Given the description of an element on the screen output the (x, y) to click on. 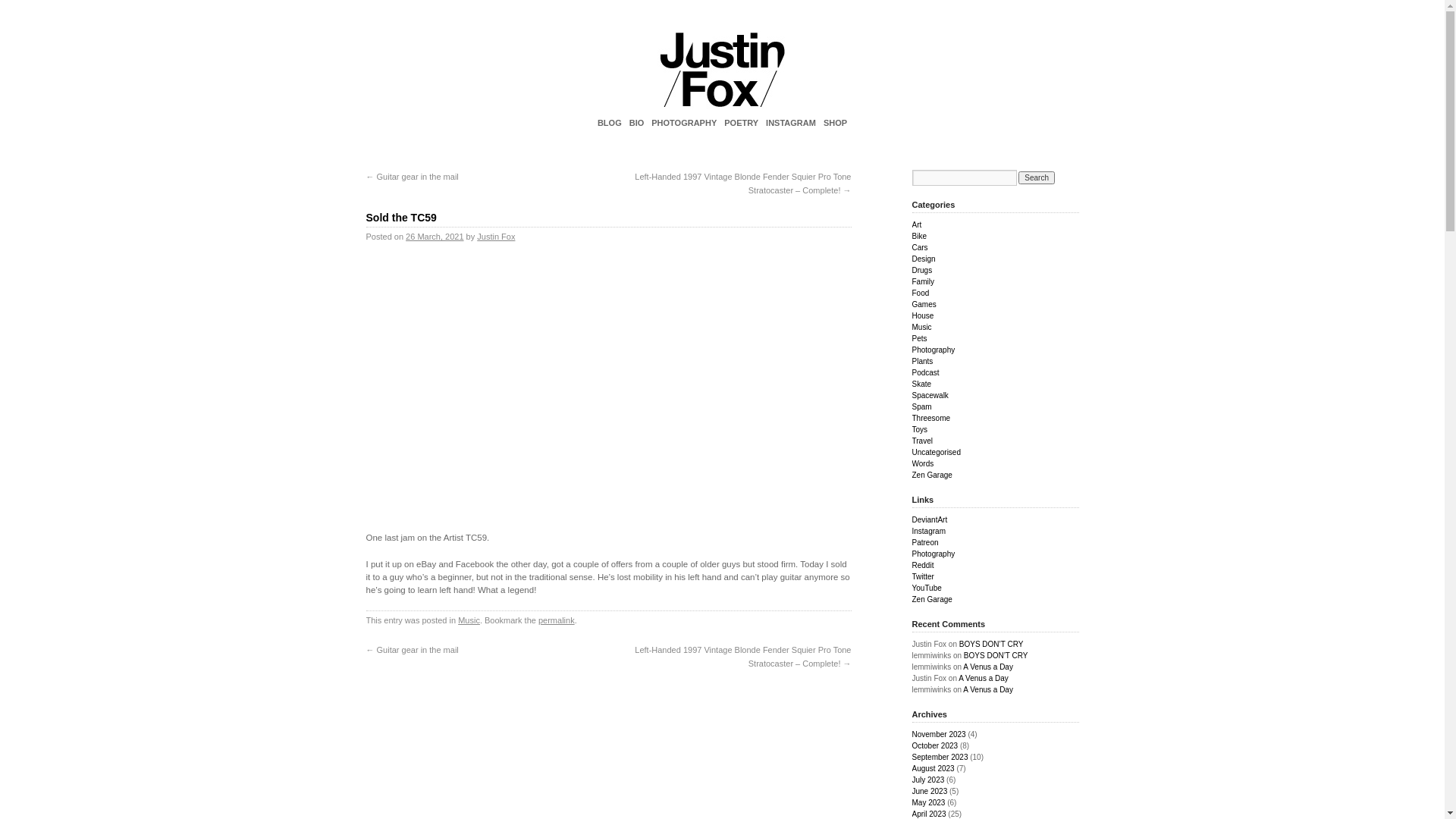
Photography Element type: text (932, 553)
August 2023 Element type: text (932, 768)
April 2023 Element type: text (928, 813)
DeviantArt Element type: text (929, 519)
Food Element type: text (919, 292)
Music Element type: text (921, 327)
Pets Element type: text (918, 338)
Travel Element type: text (921, 440)
INSTAGRAM Element type: text (790, 122)
26 March, 2021 Element type: text (434, 236)
Art Element type: text (916, 224)
Bike Element type: text (918, 236)
Spacewalk Element type: text (929, 395)
Zen Garage Element type: text (931, 474)
BLOG Element type: text (609, 122)
Uncategorised Element type: text (935, 452)
Reddit Element type: text (922, 565)
Twitter Element type: text (922, 576)
Words Element type: text (922, 463)
A Venus a Day Element type: text (988, 666)
November 2023 Element type: text (938, 734)
YouTube video player Element type: hover (607, 390)
YouTube Element type: text (926, 587)
POETRY Element type: text (741, 122)
Threesome Element type: text (930, 418)
PHOTOGRAPHY Element type: text (683, 122)
Patreon Element type: text (924, 542)
Games Element type: text (923, 304)
A Venus a Day Element type: text (983, 678)
Search Element type: text (1036, 177)
Design Element type: text (923, 258)
House Element type: text (922, 315)
Drugs Element type: text (921, 270)
Music Element type: text (469, 619)
Family Element type: text (922, 281)
September 2023 Element type: text (939, 757)
October 2023 Element type: text (934, 745)
SHOP Element type: text (834, 122)
Podcast Element type: text (924, 372)
Justin Fox Element type: text (495, 236)
Toys Element type: text (919, 429)
permalink Element type: text (556, 619)
Plants Element type: text (921, 361)
Photography Element type: text (932, 349)
BIO Element type: text (636, 122)
June 2023 Element type: text (929, 791)
May 2023 Element type: text (927, 802)
Skate Element type: text (921, 383)
Instagram Element type: text (927, 531)
A Venus a Day Element type: text (988, 689)
Spam Element type: text (921, 406)
July 2023 Element type: text (927, 779)
Cars Element type: text (919, 247)
Zen Garage Element type: text (931, 599)
